Given the description of an element on the screen output the (x, y) to click on. 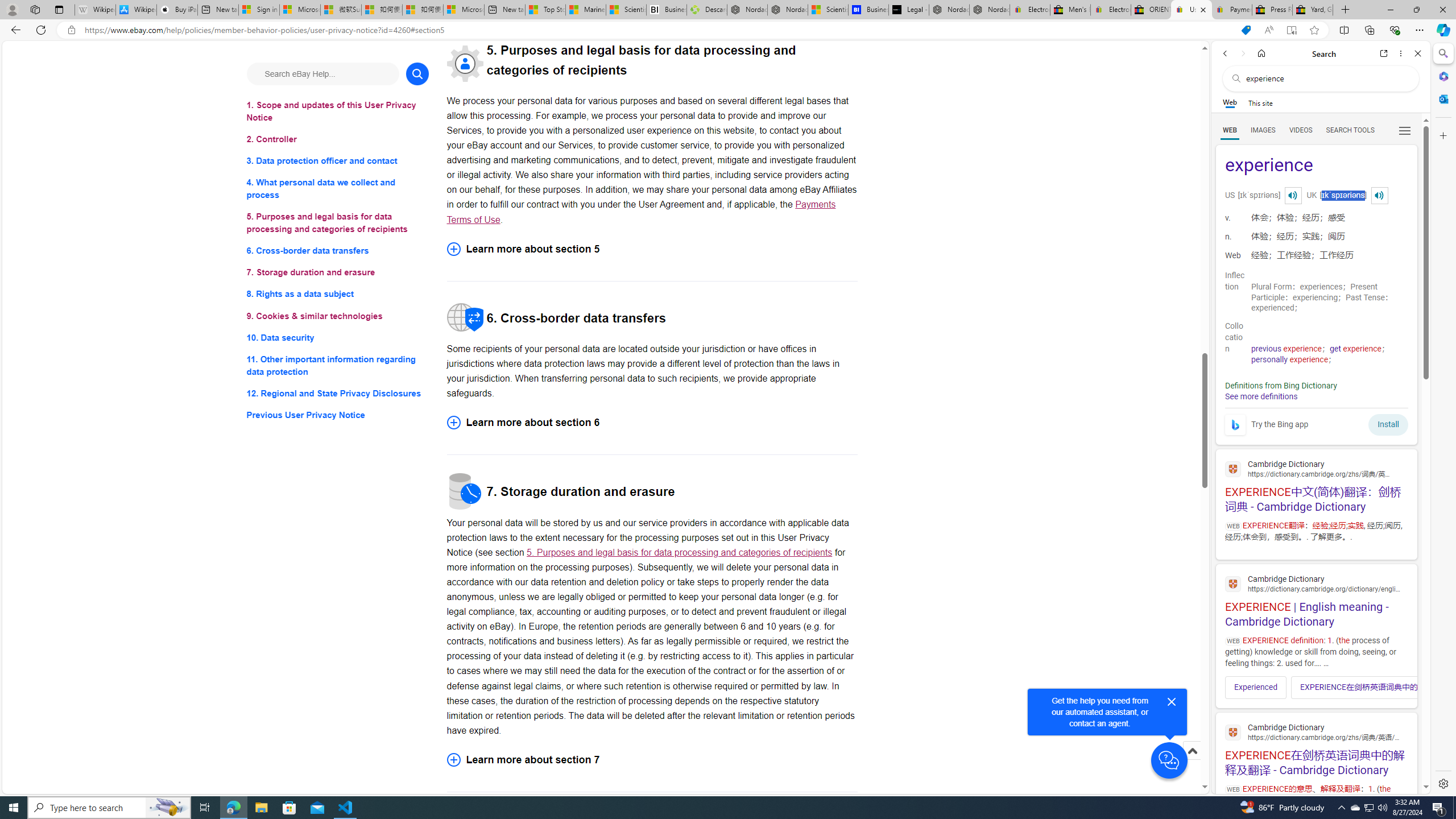
Scroll to top (1191, 750)
Payments Terms of Use | eBay.com (1231, 9)
VIDEOS (1300, 130)
Press Room - eBay Inc. (1272, 9)
Click to scroll right (1400, 687)
Top Stories - MSN (544, 9)
Experienced (1256, 687)
10. Data security (337, 336)
7. Storage duration and erasure (337, 272)
Enter Immersive Reader (F9) (1291, 29)
